Given the description of an element on the screen output the (x, y) to click on. 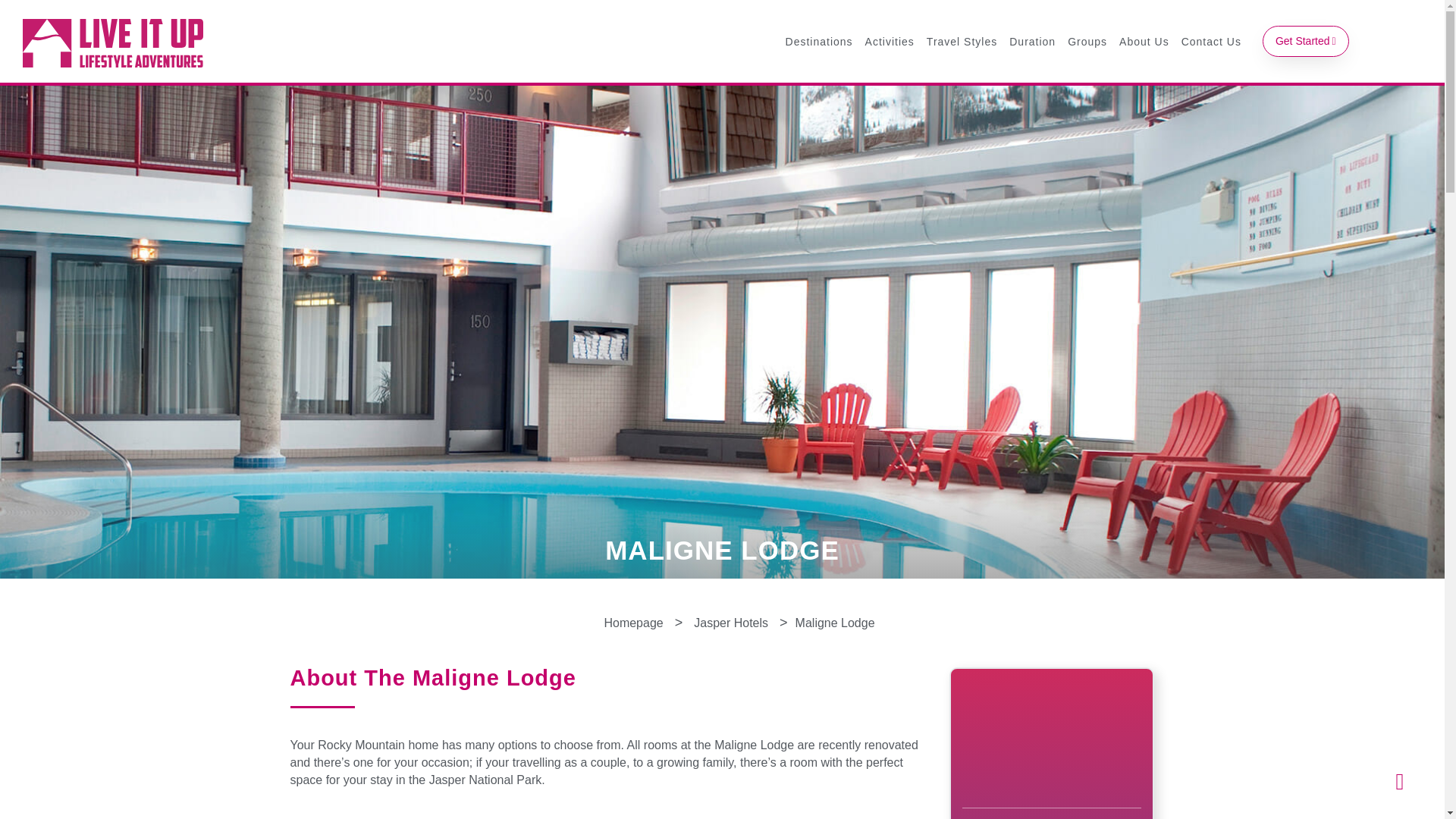
Destinations (818, 41)
Activities (889, 41)
Jasper Hotels (730, 622)
Maligne Lodge (834, 622)
Homepage (632, 622)
